Given the description of an element on the screen output the (x, y) to click on. 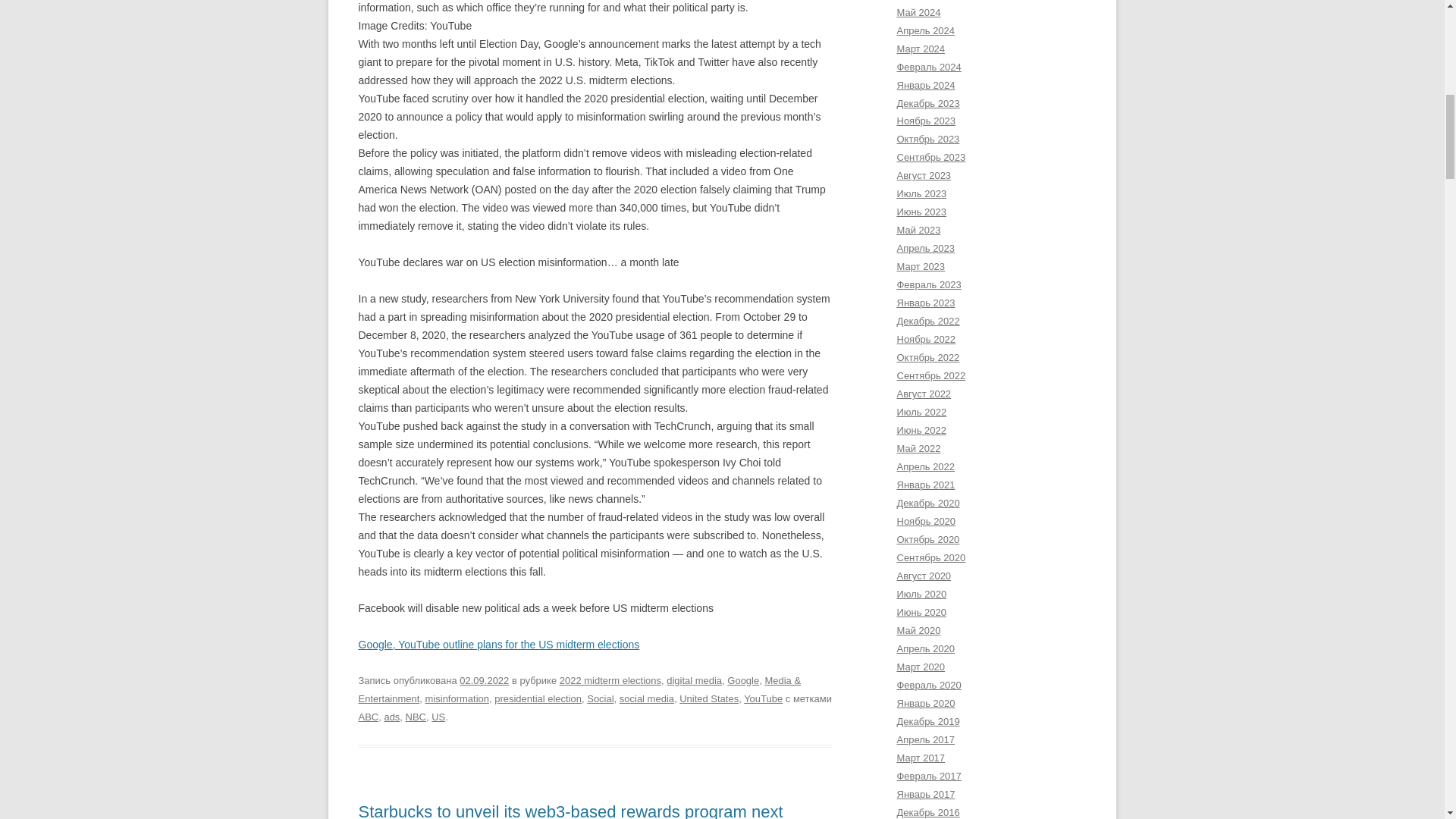
social media (647, 698)
US (437, 716)
United States (708, 698)
ABC (368, 716)
misinformation (457, 698)
02.09.2022 (484, 680)
ads (391, 716)
YouTube (763, 698)
Google (742, 680)
